Given the description of an element on the screen output the (x, y) to click on. 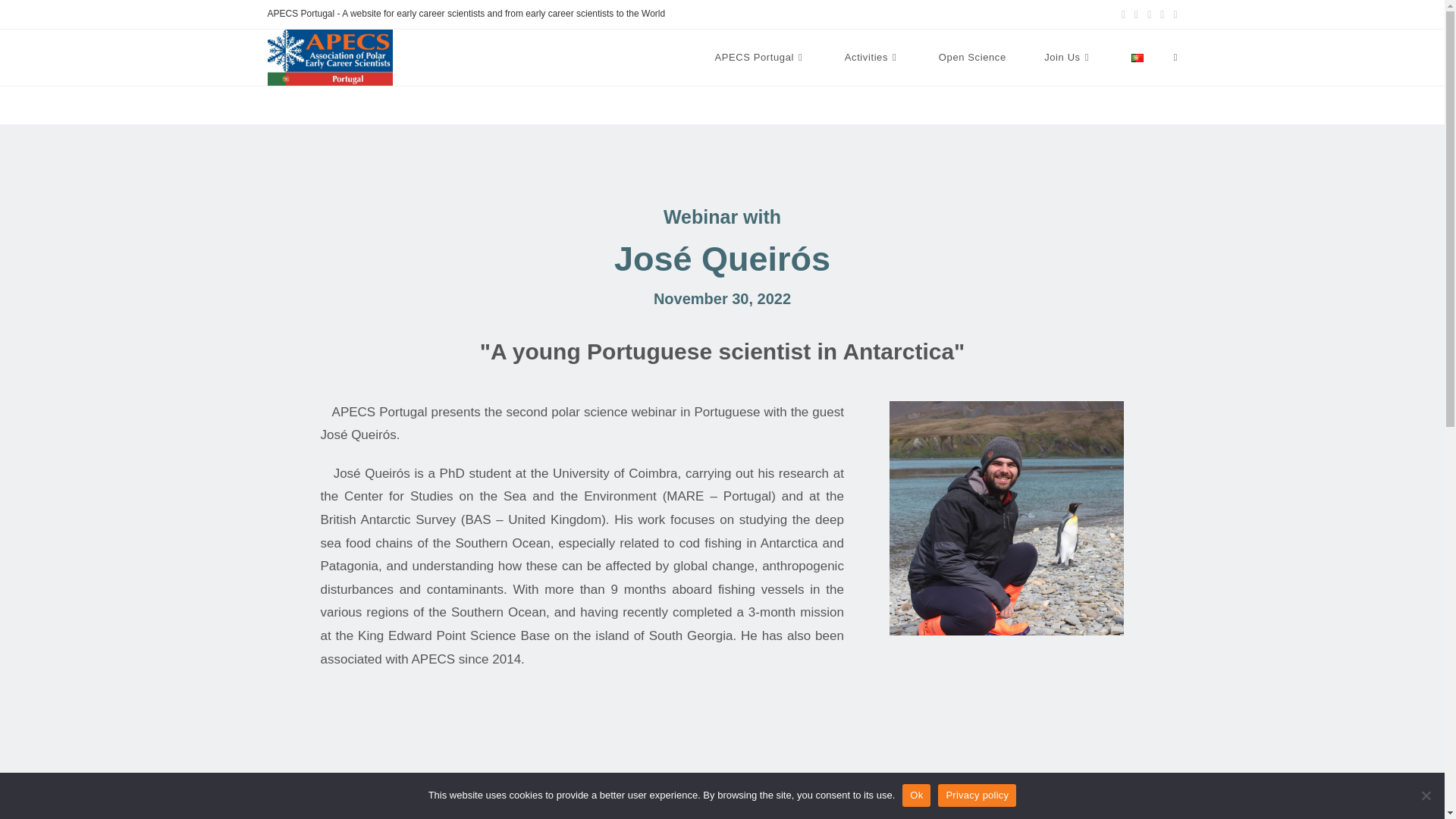
No (1425, 795)
Join Us (1068, 57)
APECS Portugal (760, 57)
Open Science (972, 57)
Activities (872, 57)
